Given the description of an element on the screen output the (x, y) to click on. 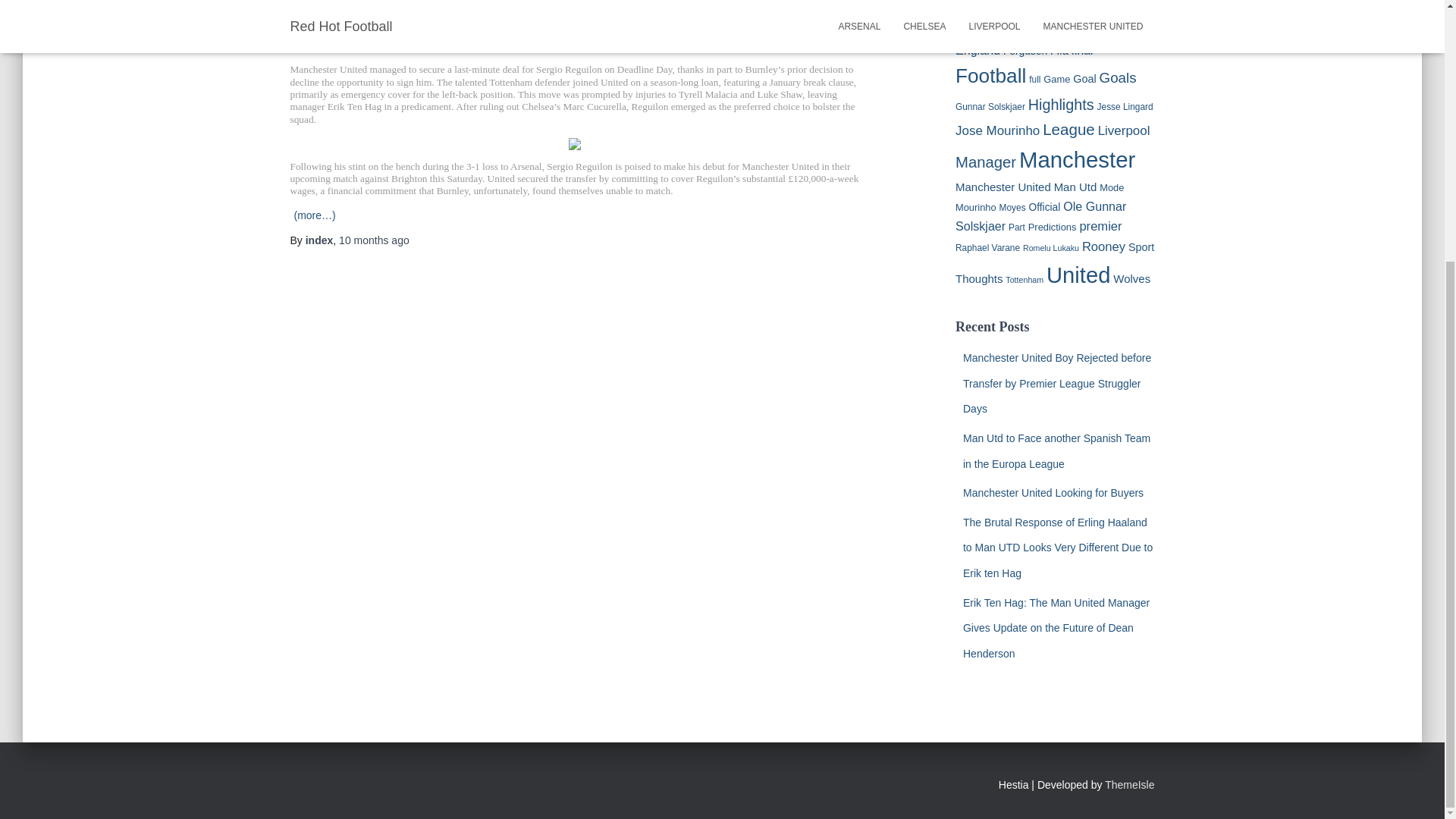
England (977, 49)
Jose Mourinho (997, 130)
Football (990, 75)
Goal (1084, 78)
2014 (1072, 5)
Man Utd (1075, 186)
Liverpool (1123, 130)
City (1104, 27)
2013 (1050, 5)
Highlights (1060, 104)
final (1082, 50)
Manchester (1077, 159)
Champions (1008, 28)
League (1068, 129)
